Given the description of an element on the screen output the (x, y) to click on. 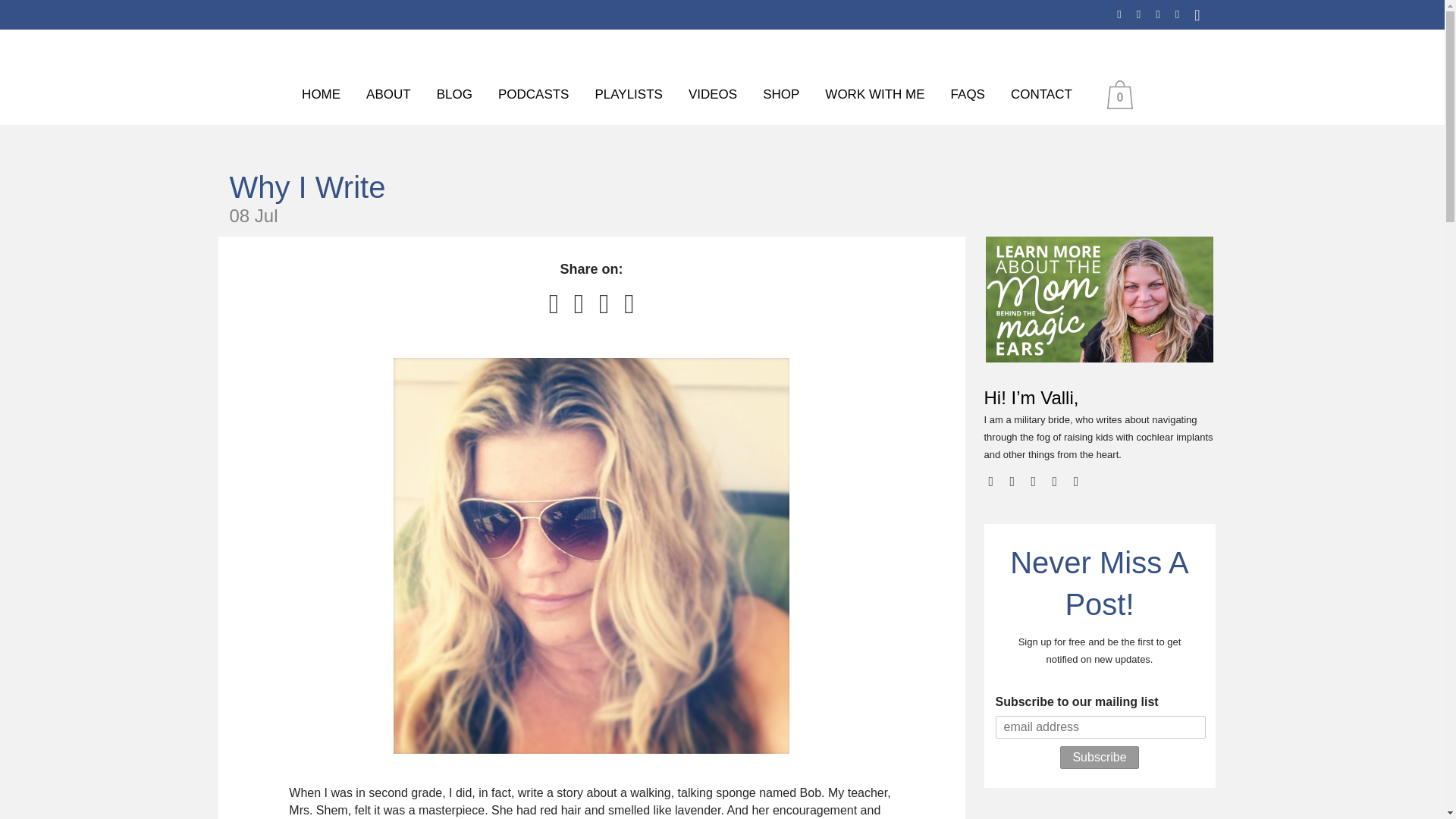
ABOUT (388, 94)
SHOP (780, 94)
VIDEOS (712, 94)
CONTACT (1040, 94)
PODCASTS (533, 94)
WORK WITH ME (874, 94)
0 (1123, 94)
HOME (320, 94)
Subscribe (1098, 757)
BLOG (453, 94)
PLAYLISTS (627, 94)
FAQS (967, 94)
